Given the description of an element on the screen output the (x, y) to click on. 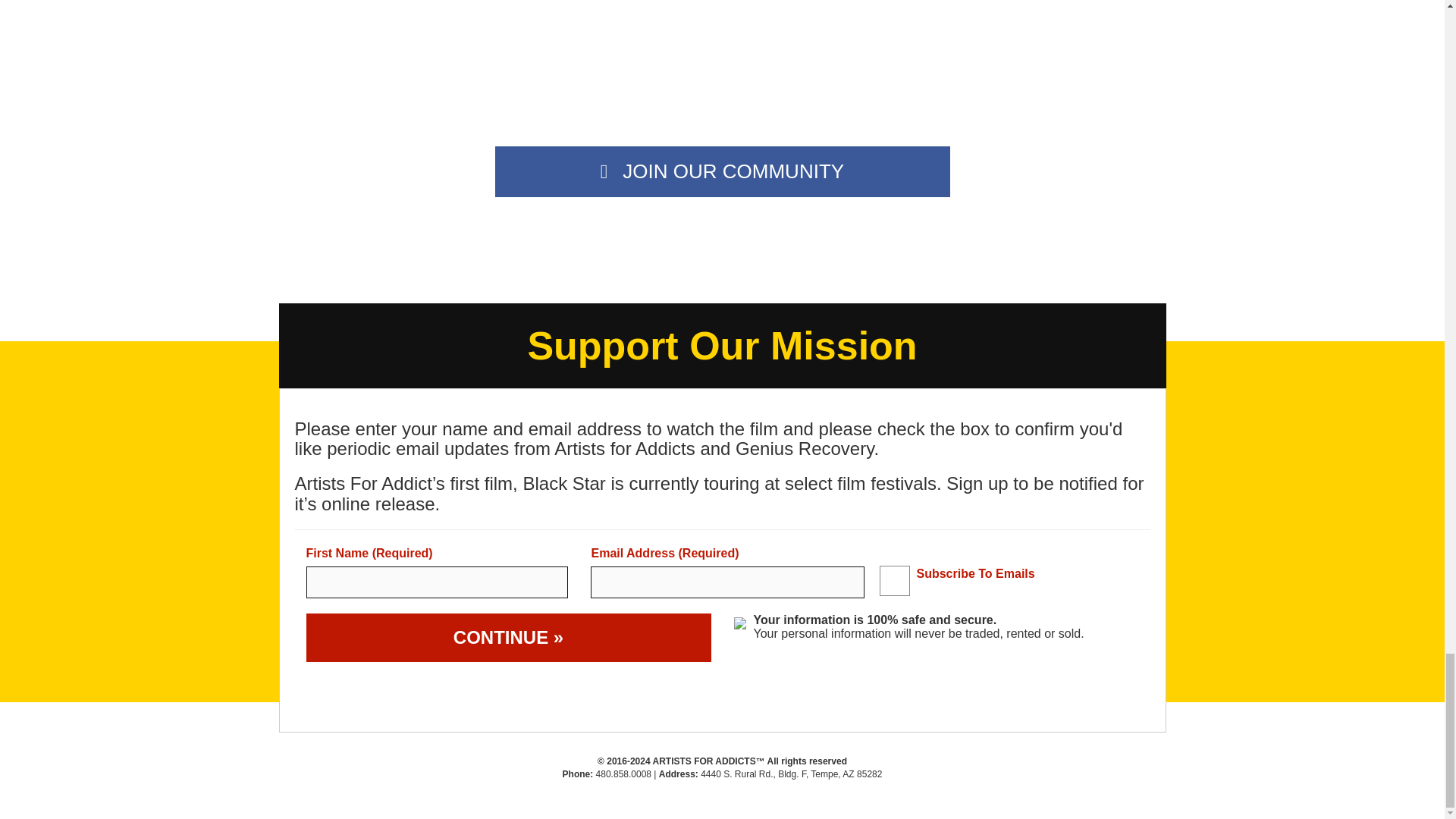
JOIN OUR COMMUNITY (722, 171)
